Given the description of an element on the screen output the (x, y) to click on. 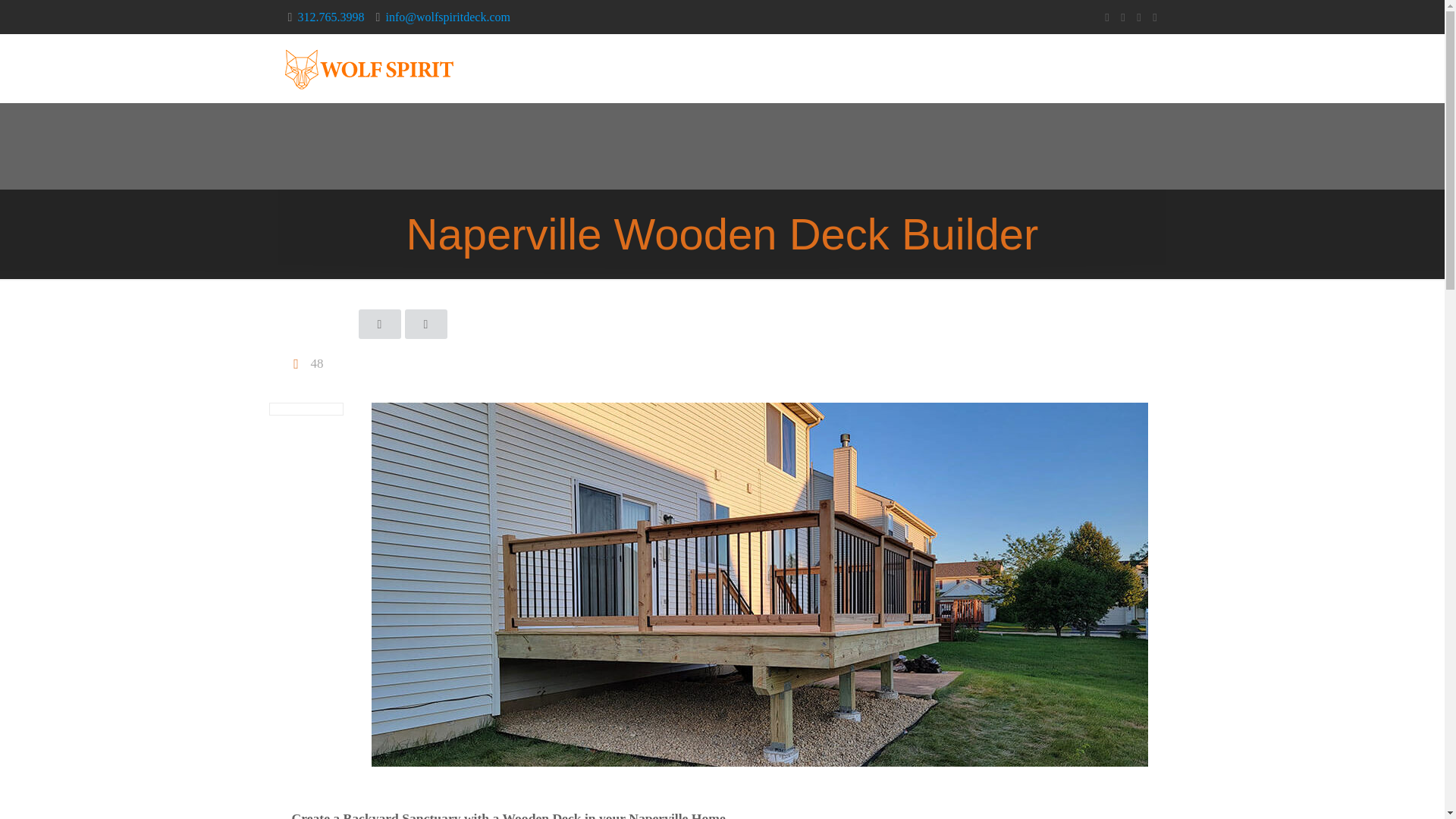
Financing (831, 68)
LinkedIn (1123, 17)
Contact us (1133, 68)
312.765.3998 (330, 16)
Facebook (1106, 17)
Wolf Spirit Deck (368, 68)
About Us (678, 68)
Pinterest (1138, 17)
Email (1155, 17)
Service Areas (921, 68)
